Given the description of an element on the screen output the (x, y) to click on. 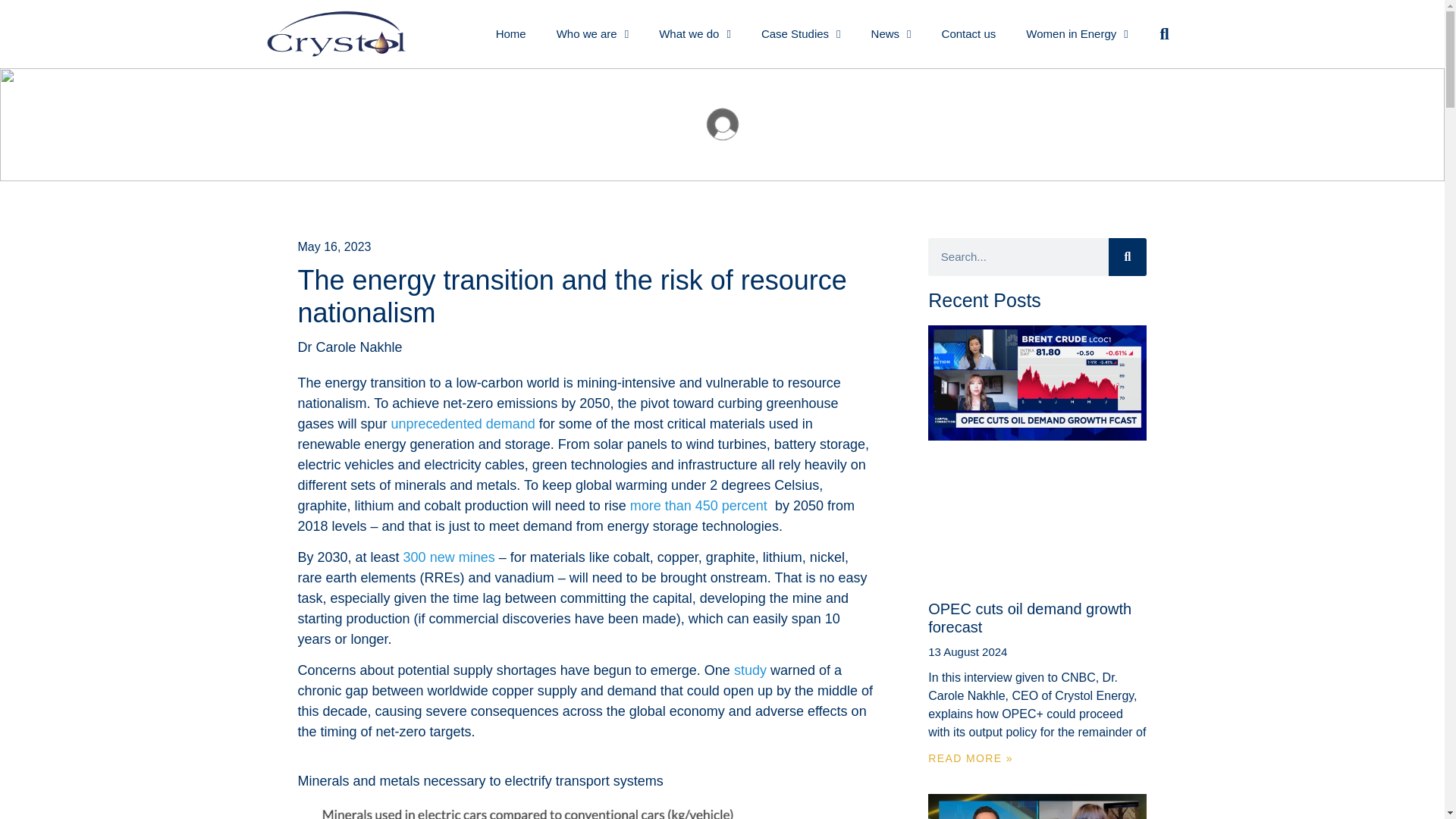
Who we are (593, 33)
Case Studies (800, 33)
News (891, 33)
What we do (694, 33)
Contact us (968, 33)
Home (510, 33)
Women in Energy (1076, 33)
